Given the description of an element on the screen output the (x, y) to click on. 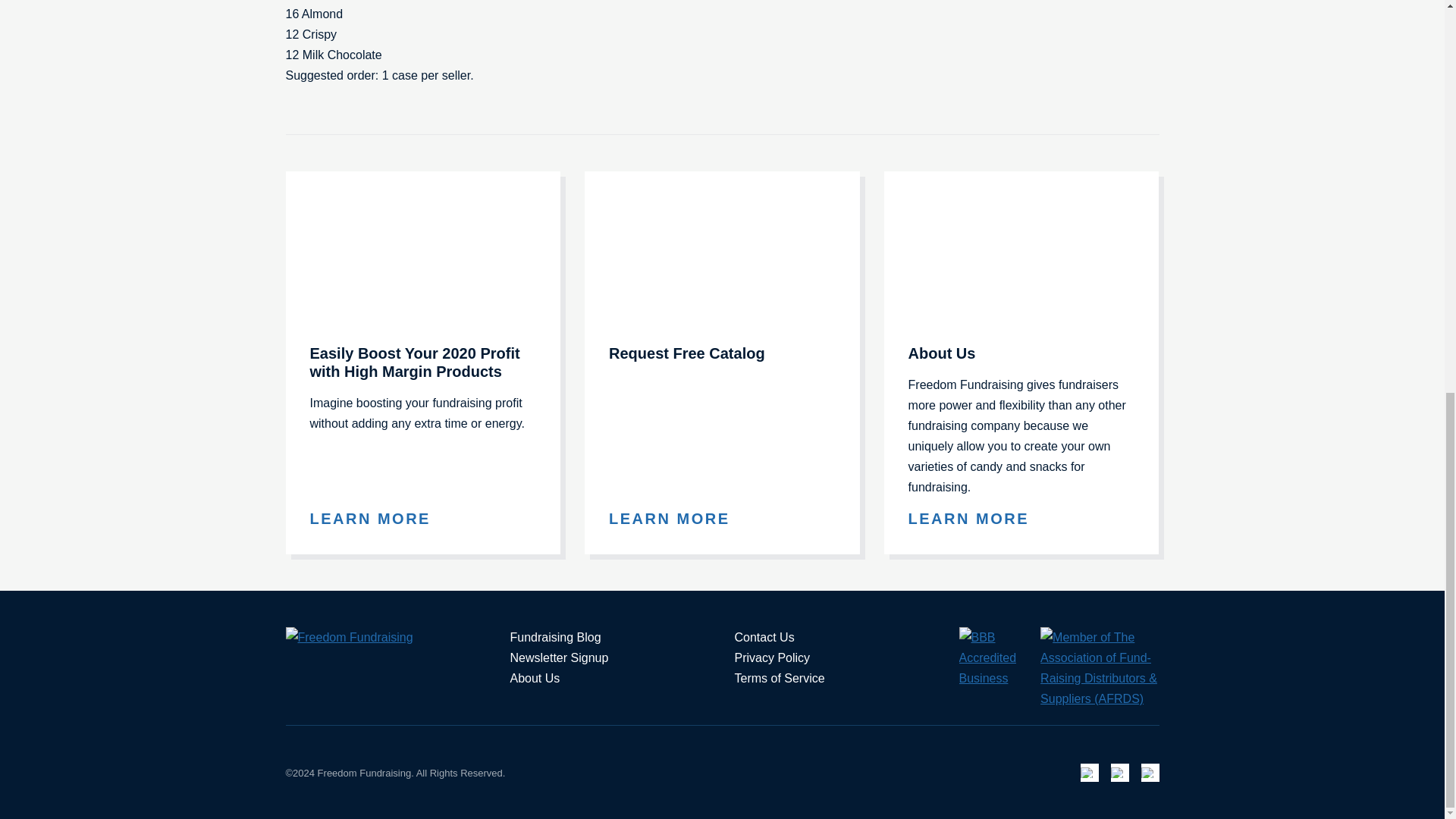
About Us (978, 518)
Easily Boost Your 2020 Profit with High Margin Products (378, 518)
Request Free Catalog (678, 518)
LEARN MORE (978, 518)
LEARN MORE (678, 518)
LEARN MORE (378, 518)
